Given the description of an element on the screen output the (x, y) to click on. 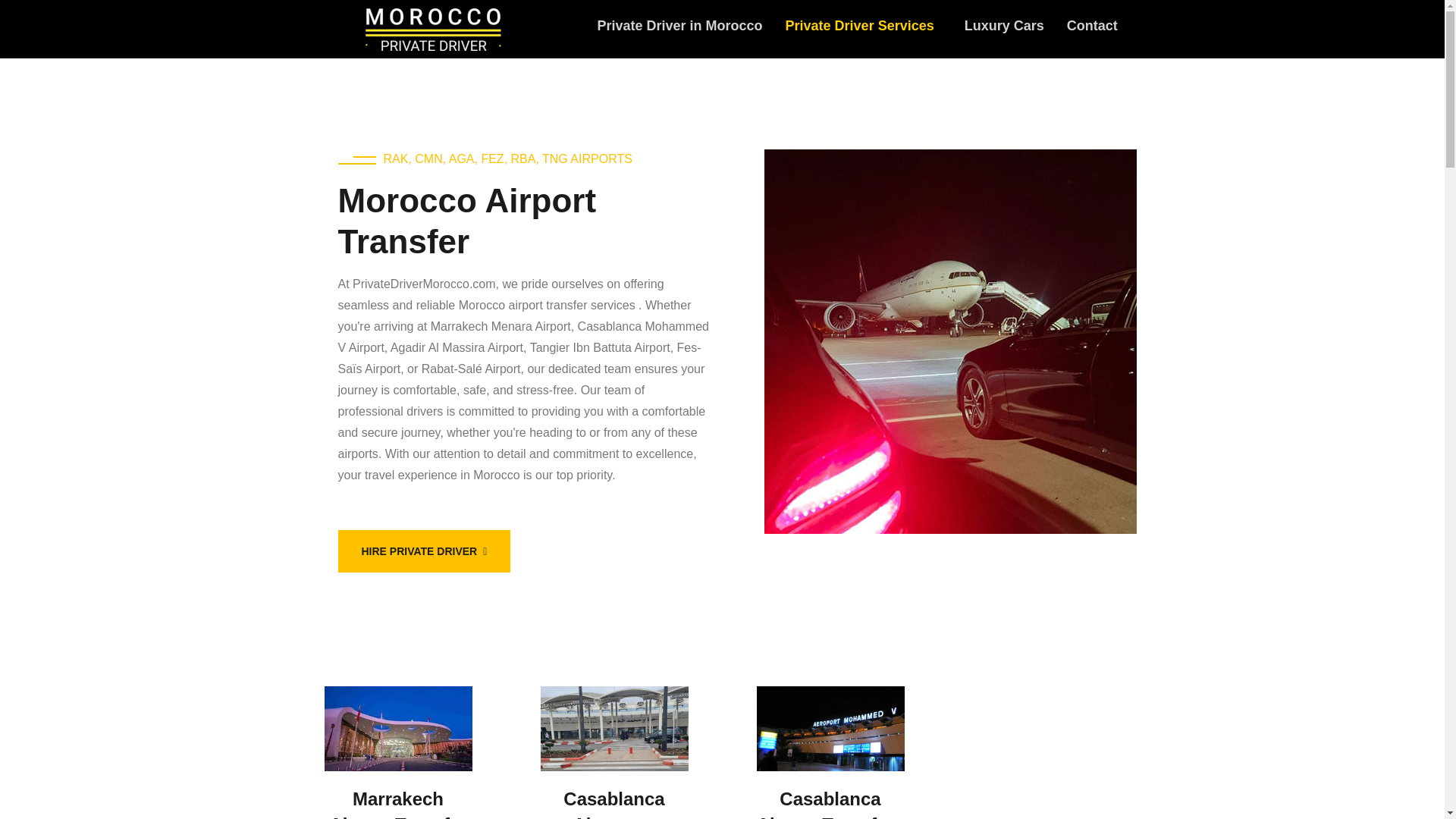
Private Driver Morocco (433, 28)
Private Driver in Morocco (679, 25)
HIRE PRIVATE DRIVER (424, 550)
Marrakech Airport Transfer (397, 803)
Casablanca Airport to Marrakech (613, 803)
Casablanca Airport Transfers (830, 803)
Luxury Cars (1004, 25)
Private Driver Services (863, 25)
Contact (1092, 25)
